Given the description of an element on the screen output the (x, y) to click on. 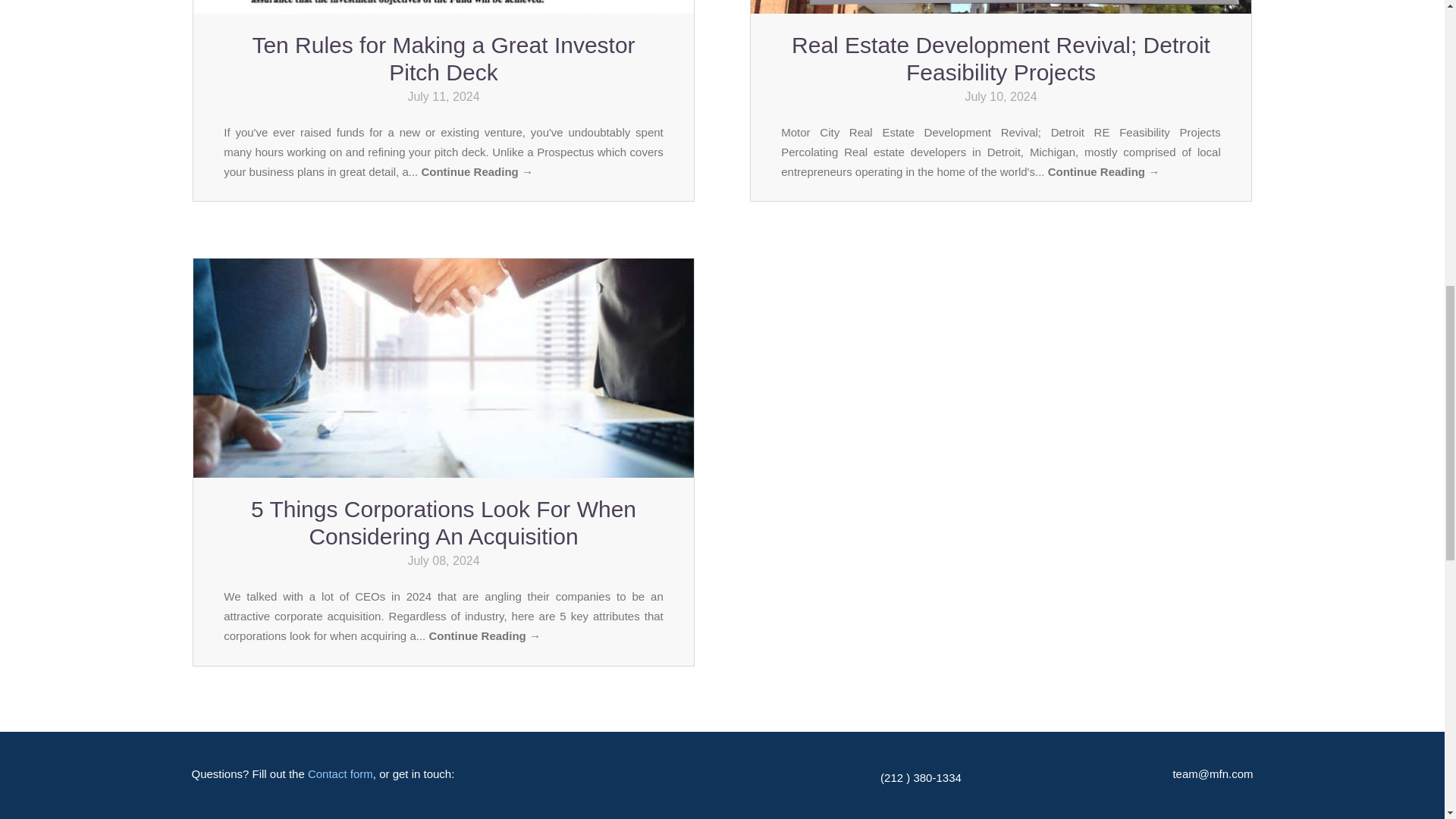
Contact form (339, 773)
Call now (920, 777)
Send an Email (1212, 773)
